Given the description of an element on the screen output the (x, y) to click on. 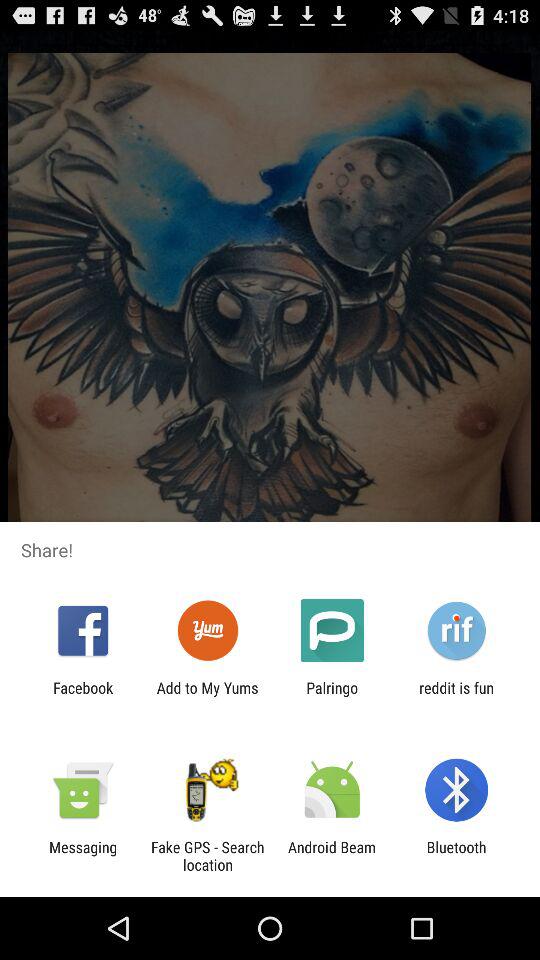
open messaging icon (83, 856)
